Given the description of an element on the screen output the (x, y) to click on. 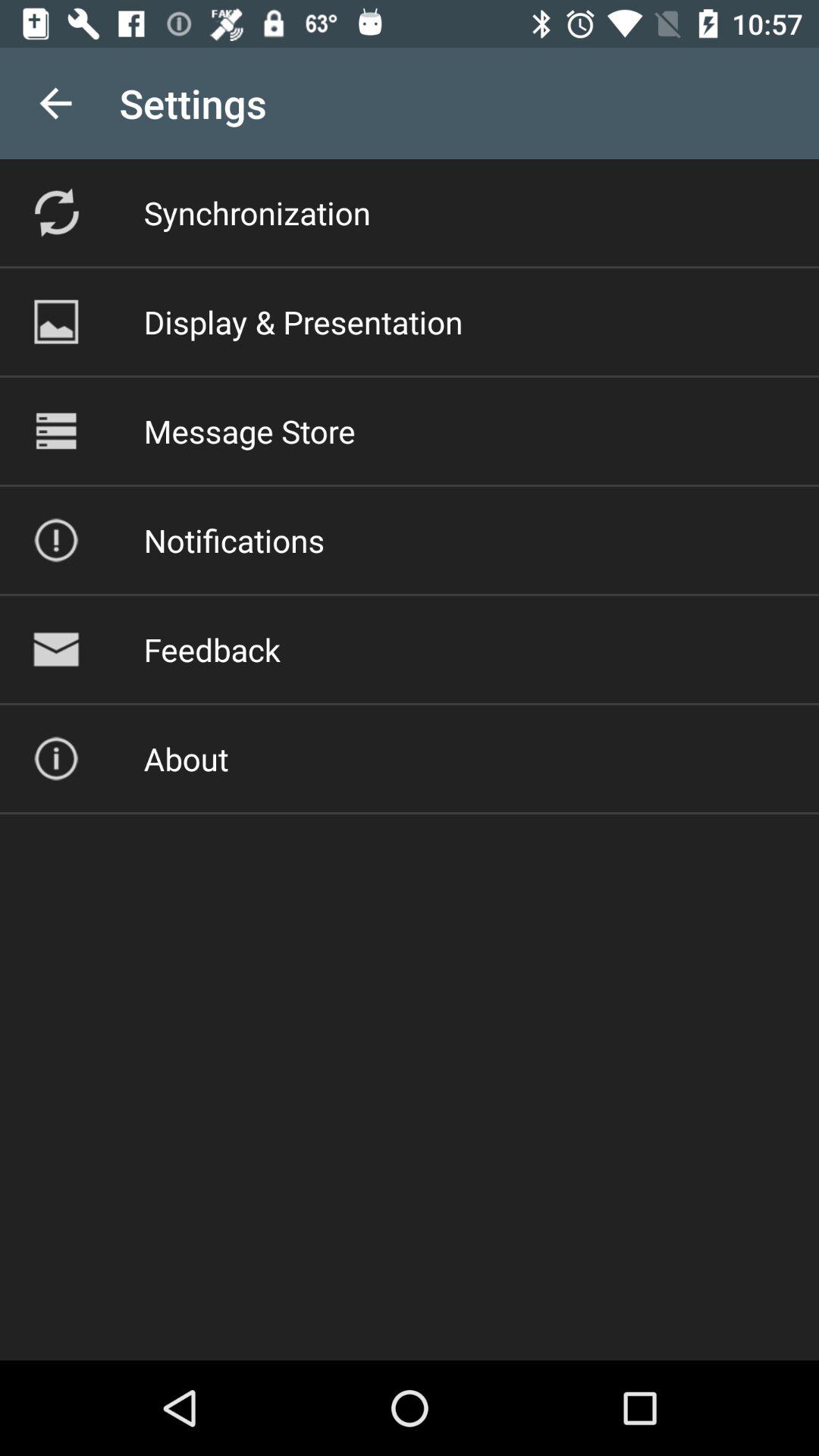
press the about item (185, 758)
